Given the description of an element on the screen output the (x, y) to click on. 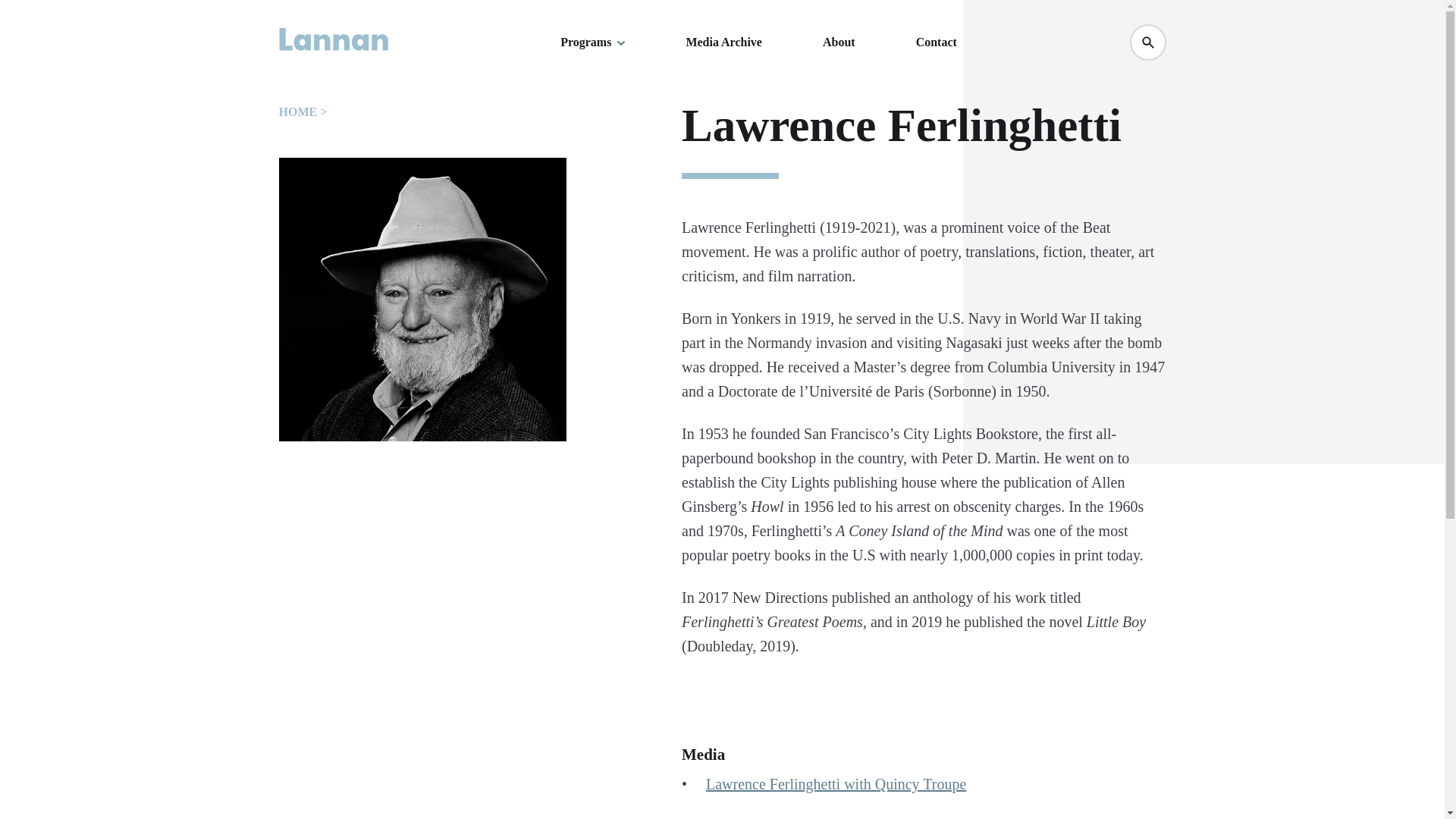
Lawrence Ferlinghetti with Quincy Troupe (836, 783)
Programs (592, 42)
About (839, 42)
HOME (298, 111)
Contact (935, 42)
Media Archive (723, 42)
